Given the description of an element on the screen output the (x, y) to click on. 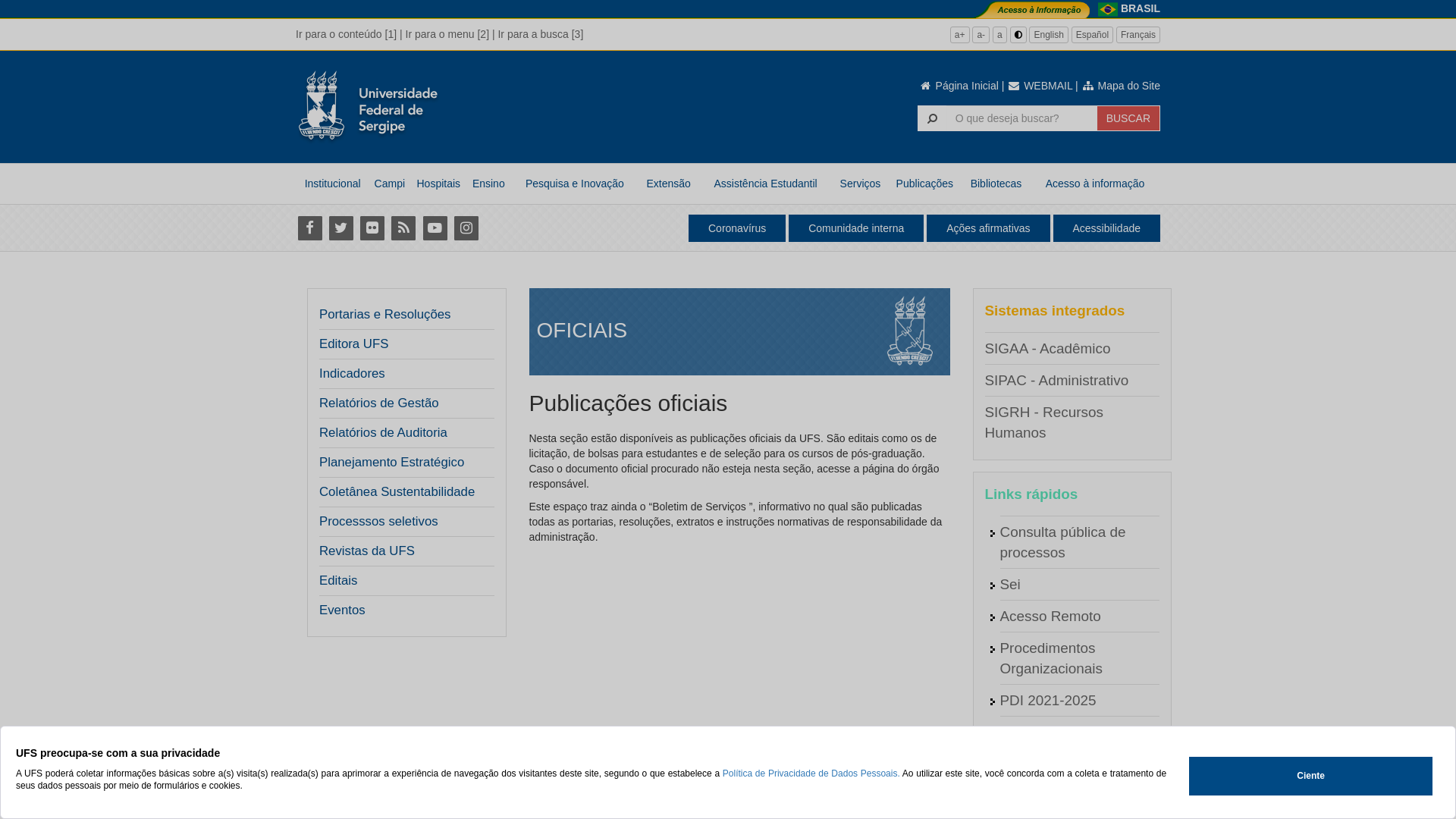
Telefones Element type: text (1029, 795)
a- Element type: text (980, 34)
Procedimentos Organizacionais Element type: text (1050, 658)
Institucional Element type: text (332, 183)
Hospitais Element type: text (438, 183)
BUSCAR Element type: text (1128, 118)
SIPAC - Administrativo Element type: text (1056, 380)
Campi Element type: text (389, 183)
Youtube Element type: text (434, 227)
Bibliotecas Element type: text (995, 183)
Acesso Remoto Element type: text (1049, 616)
Editais Element type: text (402, 580)
Agenda do Reitor Element type: text (1054, 732)
Processsos seletivos Element type: text (402, 521)
a Element type: text (999, 34)
Mapa do Site Element type: text (1120, 85)
Facebook Element type: text (309, 227)
English Element type: text (1048, 34)
Eventos Element type: text (342, 610)
Indicadores Element type: text (352, 373)
RSS Element type: text (403, 227)
Instagram Element type: text (465, 227)
Ensino Element type: text (488, 183)
a+ Element type: text (959, 34)
Sei Element type: text (1009, 584)
Editora UFS Element type: text (353, 343)
BRASIL Element type: text (1140, 8)
Flickr Element type: text (371, 227)
Acessibilidade Element type: text (1106, 227)
Comunidade interna Element type: text (855, 227)
Ir para a busca [3] Element type: text (540, 34)
Twitter Element type: text (340, 227)
Ir para o menu [2] Element type: text (447, 34)
Agenda do Vice-Reitor Element type: text (1071, 763)
Revistas da UFS Element type: text (366, 550)
SIGRH - Recursos Humanos Element type: text (1043, 422)
WEBMAIL Element type: text (1039, 85)
PDI 2021-2025 Element type: text (1047, 700)
